Given the description of an element on the screen output the (x, y) to click on. 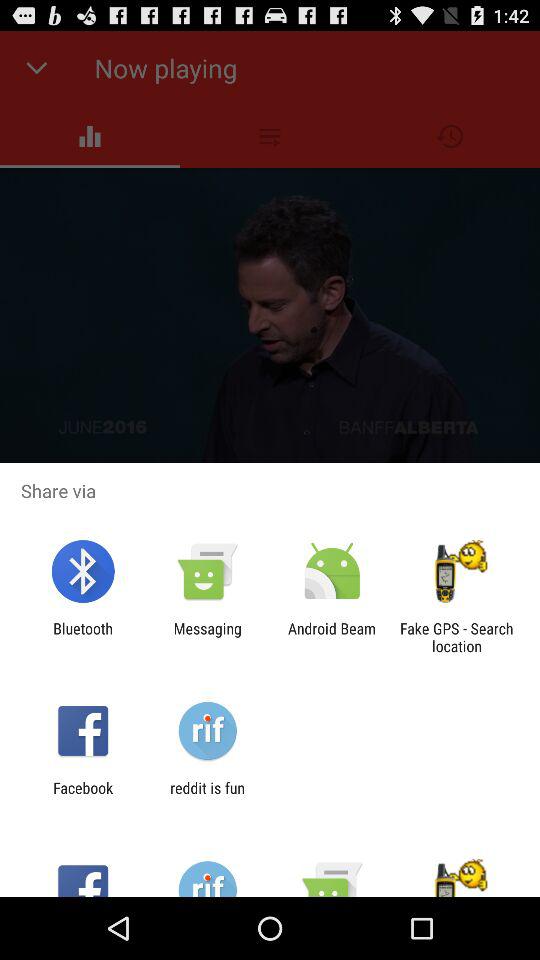
press app to the right of messaging app (332, 637)
